Given the description of an element on the screen output the (x, y) to click on. 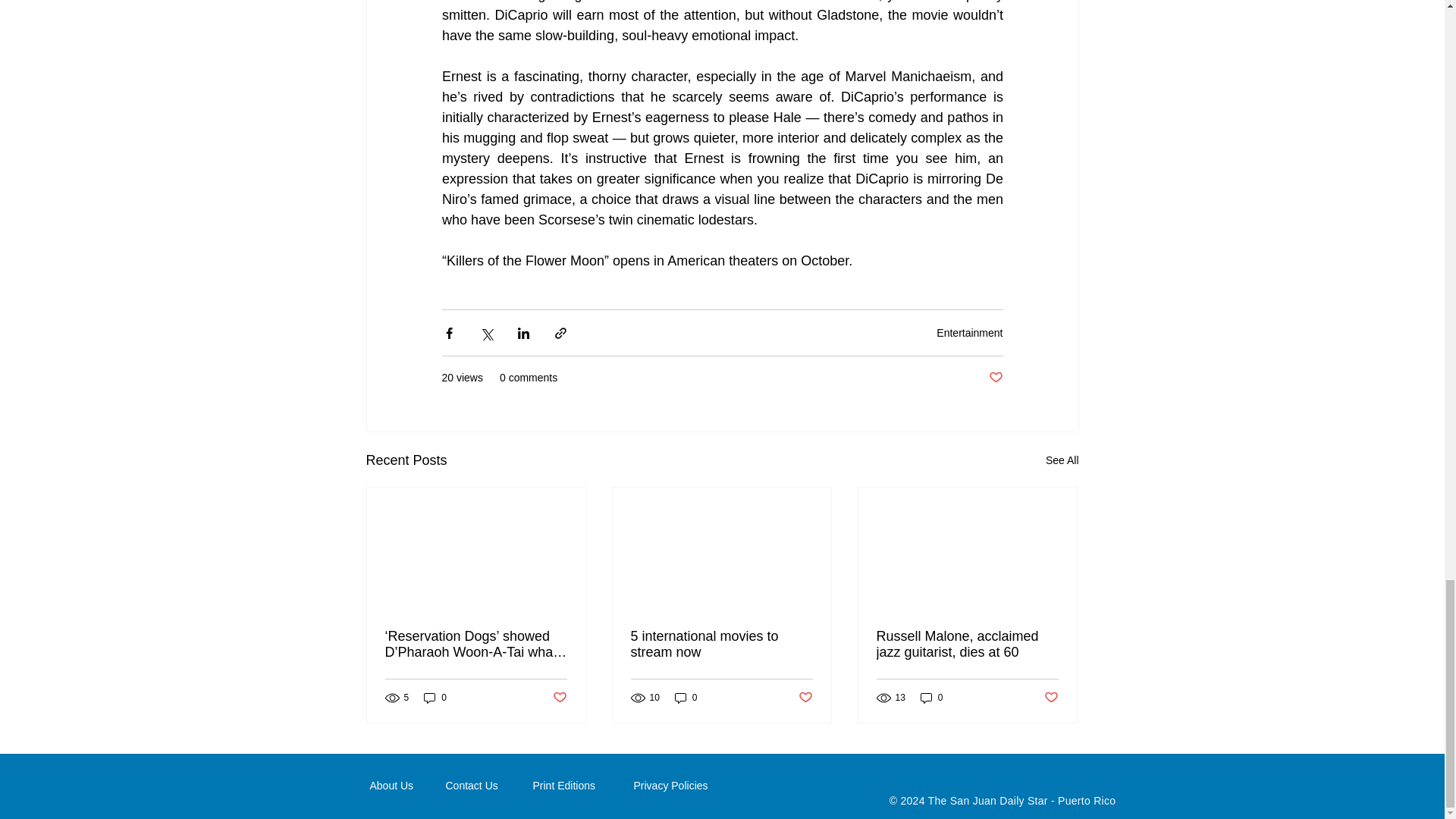
0 (435, 698)
5 international movies to stream now (721, 644)
See All (1061, 460)
Entertainment (969, 332)
Post not marked as liked (995, 377)
Post not marked as liked (558, 697)
0 (685, 698)
